Given the description of an element on the screen output the (x, y) to click on. 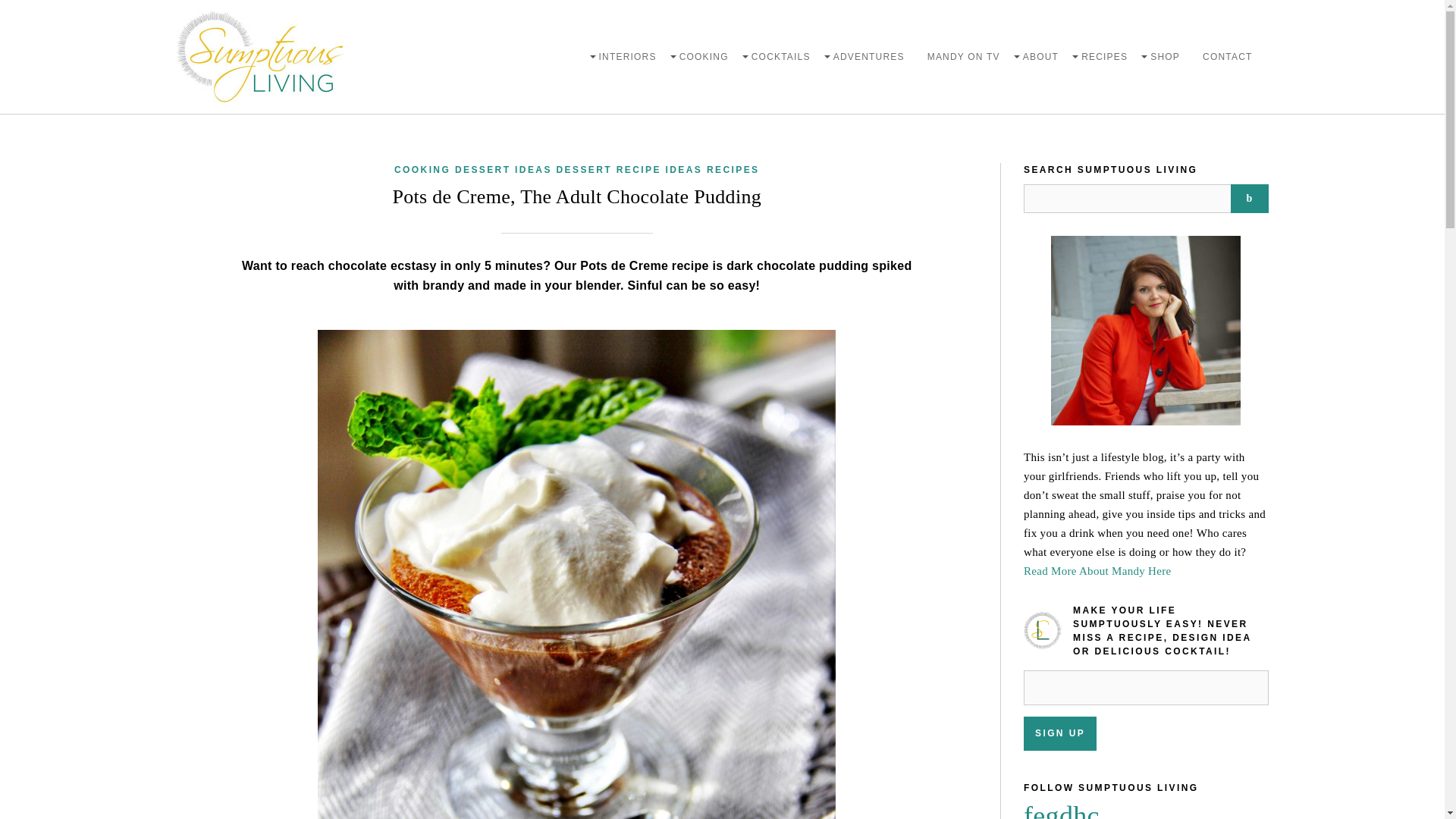
b (1249, 198)
Sumptuous Living (259, 56)
MANDY ON TV (963, 56)
Sign Up (1059, 733)
Mandy Landefeld (1145, 330)
